Given the description of an element on the screen output the (x, y) to click on. 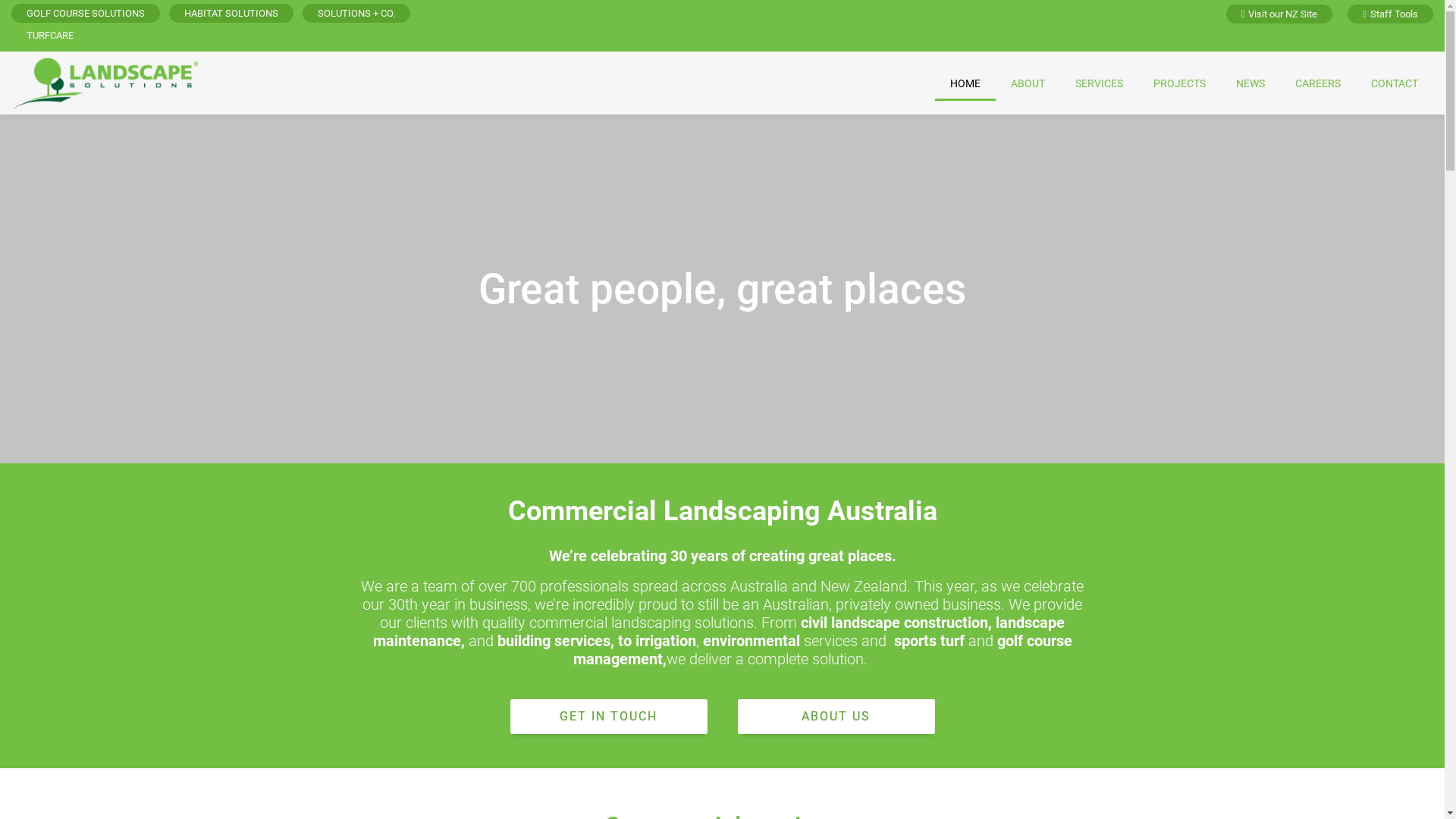
Staff Tools Element type: text (1390, 13)
SOLUTIONS + CO. Element type: text (356, 12)
ABOUT US Element type: text (835, 716)
civil landscape construction Element type: text (894, 622)
golf course management, Element type: text (822, 649)
CONTACT Element type: text (1394, 82)
environmental Element type: text (750, 640)
GOLF COURSE SOLUTIONS Element type: text (85, 12)
building services, Element type: text (555, 640)
HABITAT SOLUTIONS Element type: text (231, 12)
HOME Element type: text (965, 82)
NEWS Element type: text (1250, 82)
GET IN TOUCH Element type: text (607, 716)
irrigation Element type: text (665, 640)
sports turf Element type: text (928, 640)
ABOUT Element type: text (1027, 82)
PROJECTS Element type: text (1179, 82)
Visit our NZ Site Element type: text (1278, 13)
TURFCARE Element type: text (49, 34)
landscape maintenance Element type: text (719, 631)
SERVICES Element type: text (1099, 82)
CAREERS Element type: text (1317, 82)
